Given the description of an element on the screen output the (x, y) to click on. 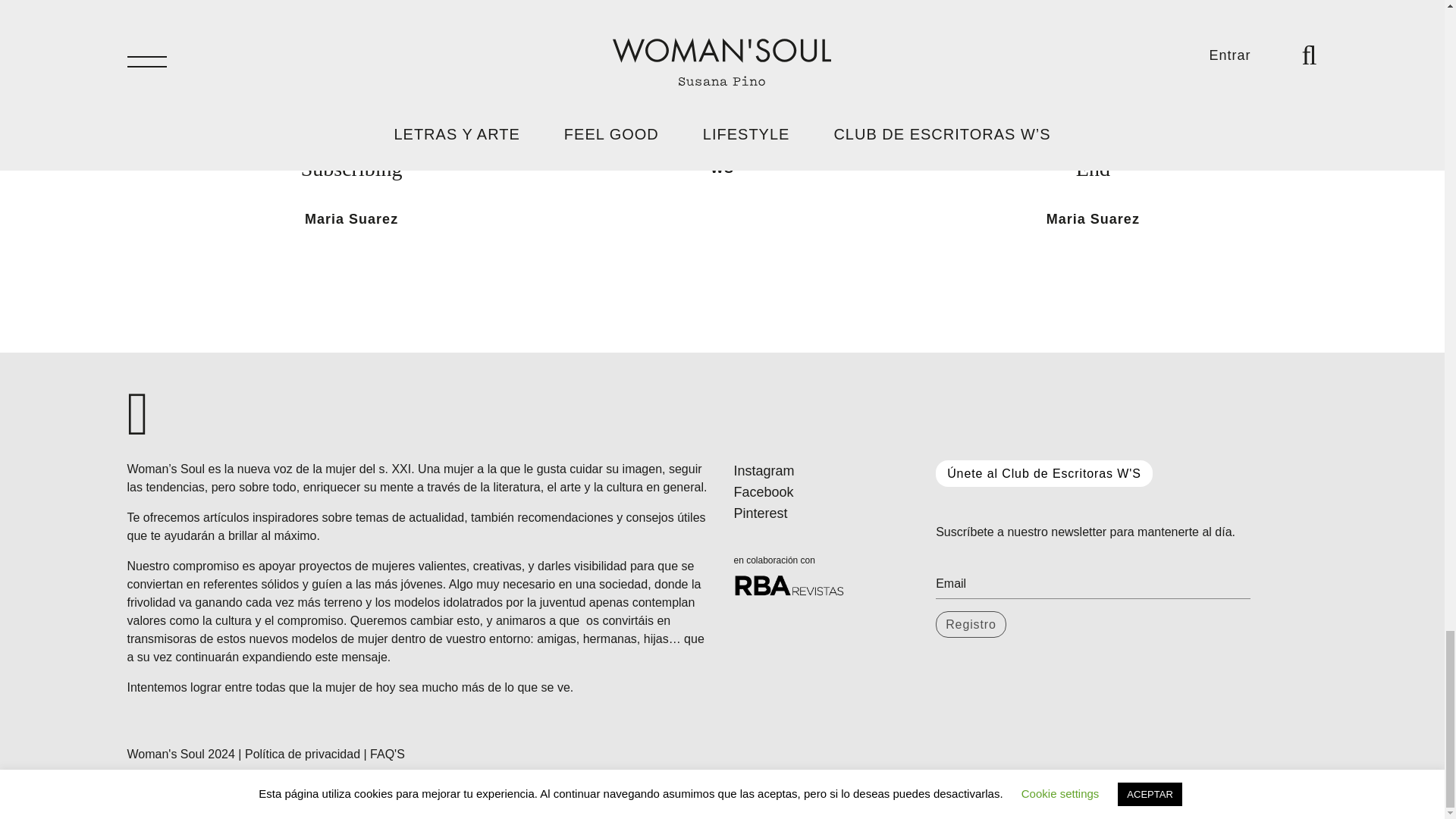
Registro (971, 624)
Maria Suarez (350, 218)
